Given the description of an element on the screen output the (x, y) to click on. 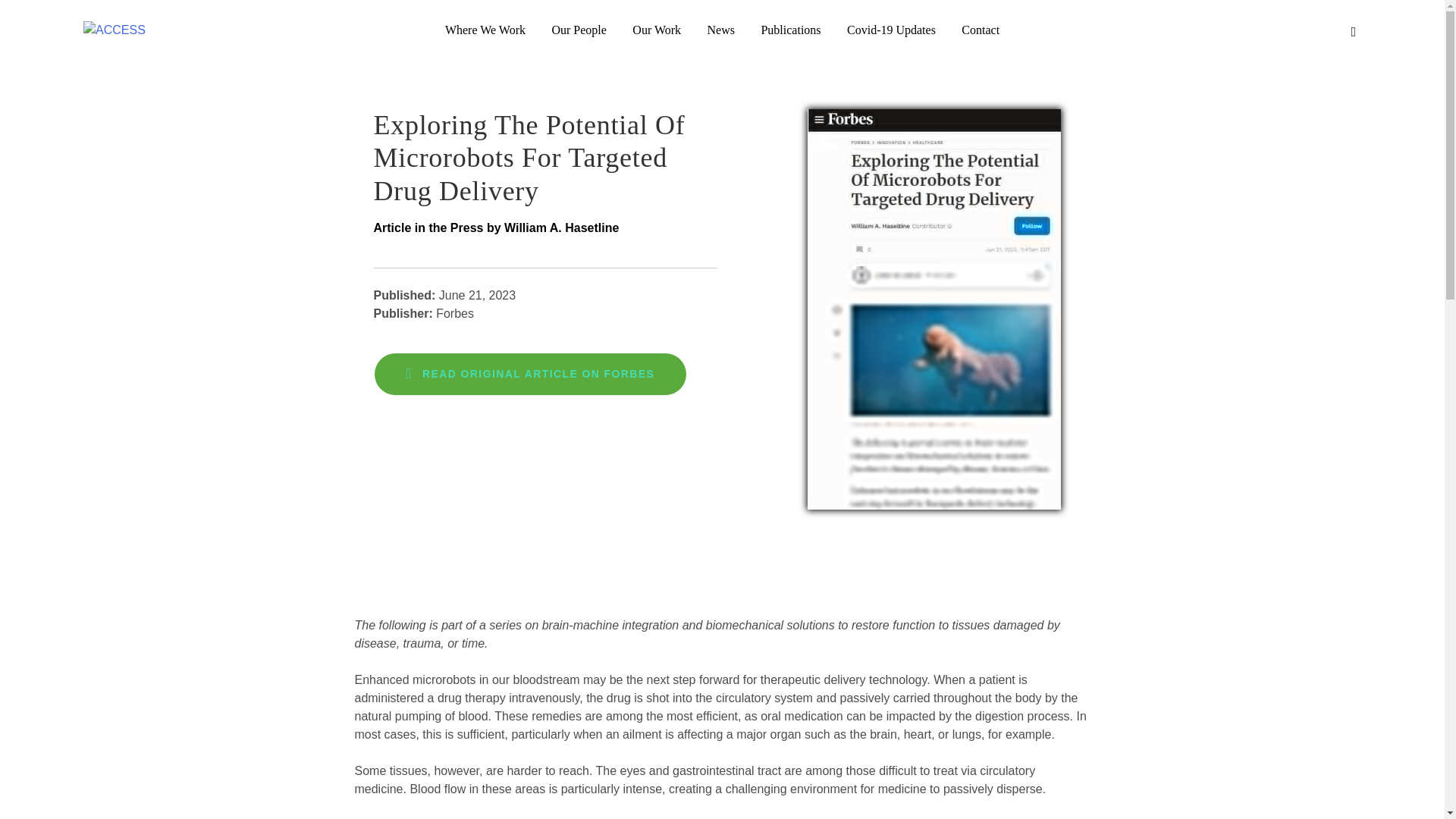
Publications (790, 29)
Our People (578, 29)
Covid-19 Updates (891, 29)
READ ORIGINAL ARTICLE ON FORBES (530, 373)
Our Work (657, 29)
Contact (980, 29)
Where We Work (485, 29)
